Given the description of an element on the screen output the (x, y) to click on. 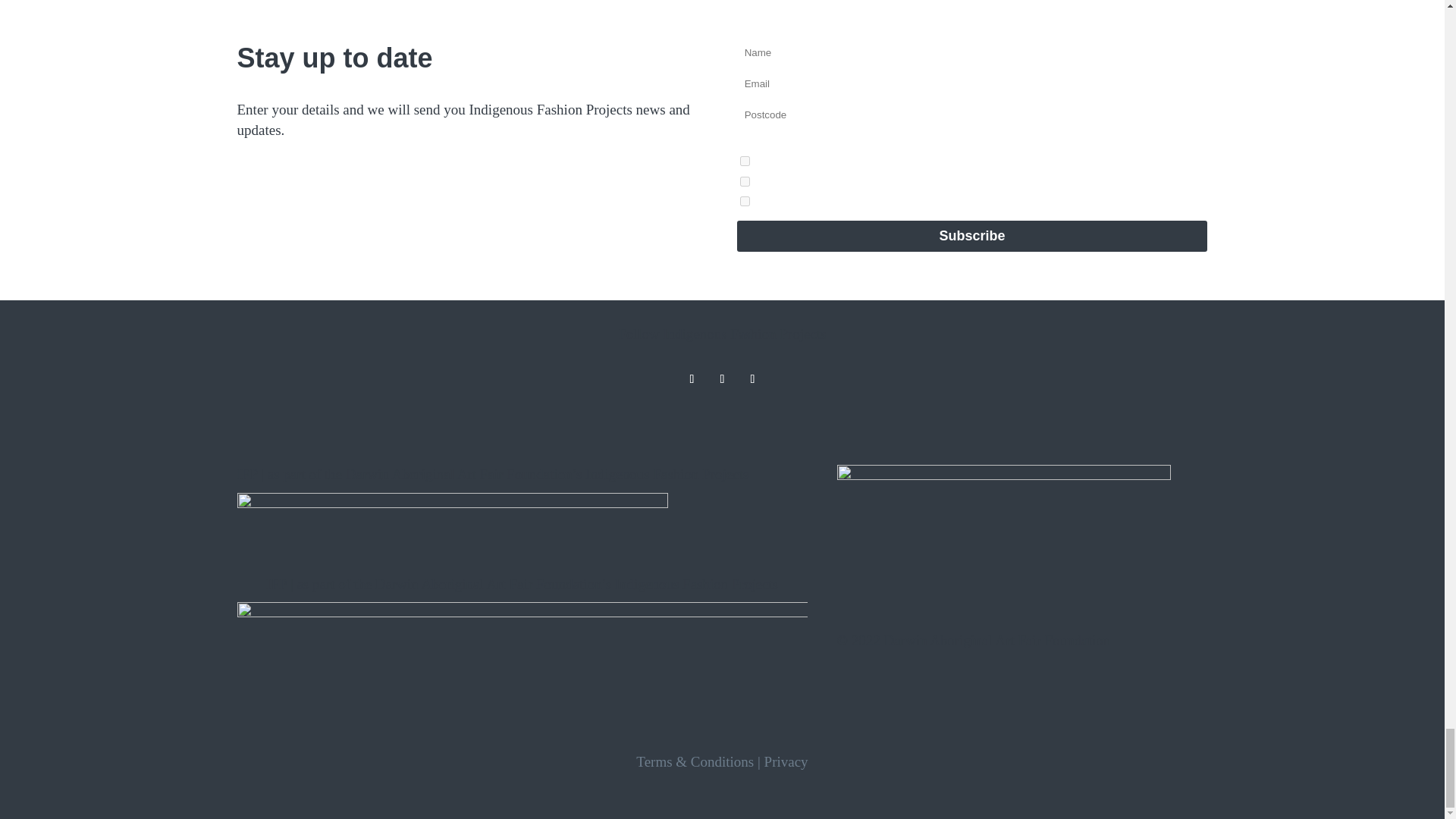
bukmjr (744, 181)
blhjrhr (744, 161)
bukmih (744, 201)
Follow on Instagram (691, 378)
Follow on Facebook (721, 378)
